Given the description of an element on the screen output the (x, y) to click on. 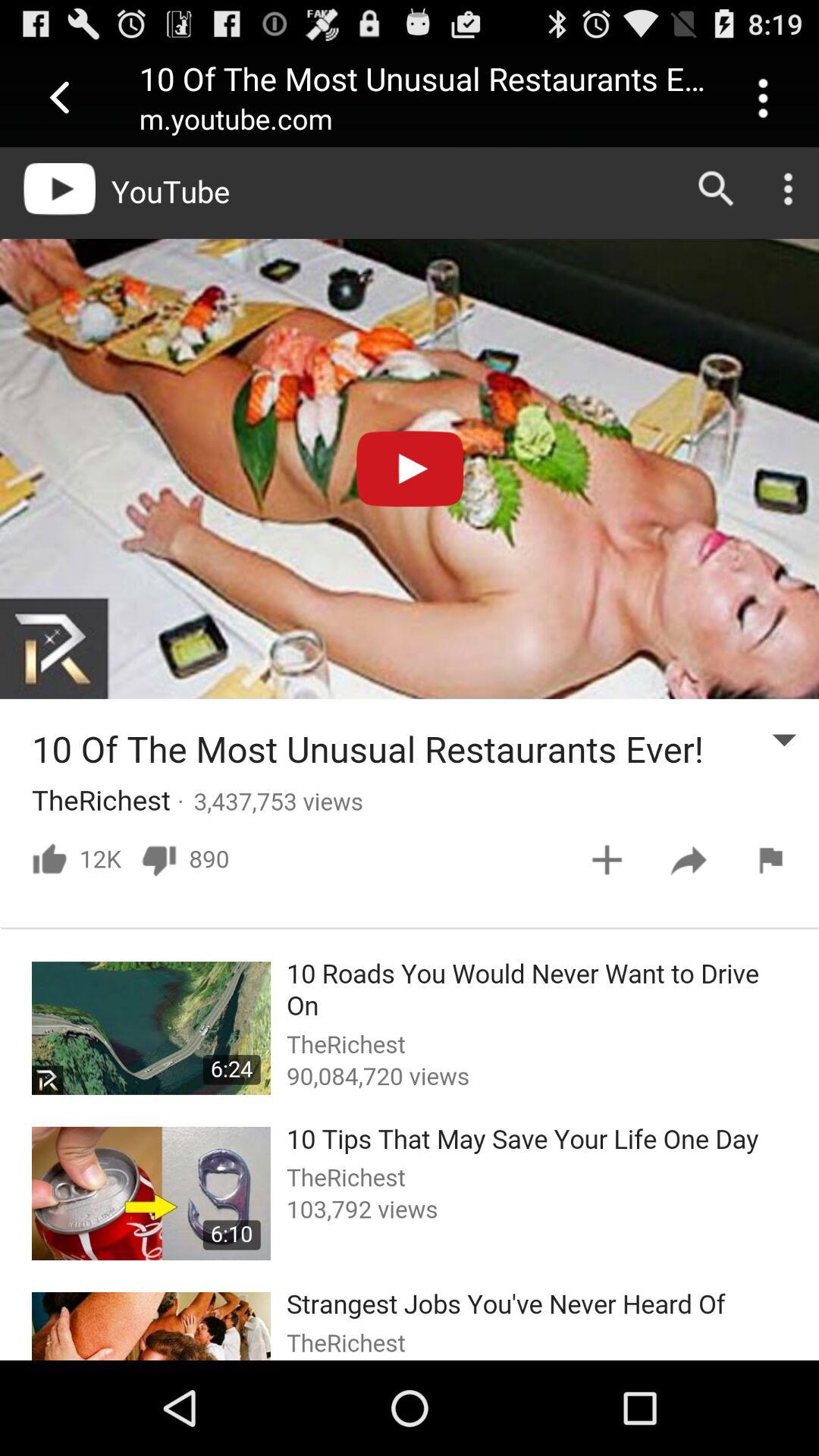
scroll down or up (409, 753)
